Given the description of an element on the screen output the (x, y) to click on. 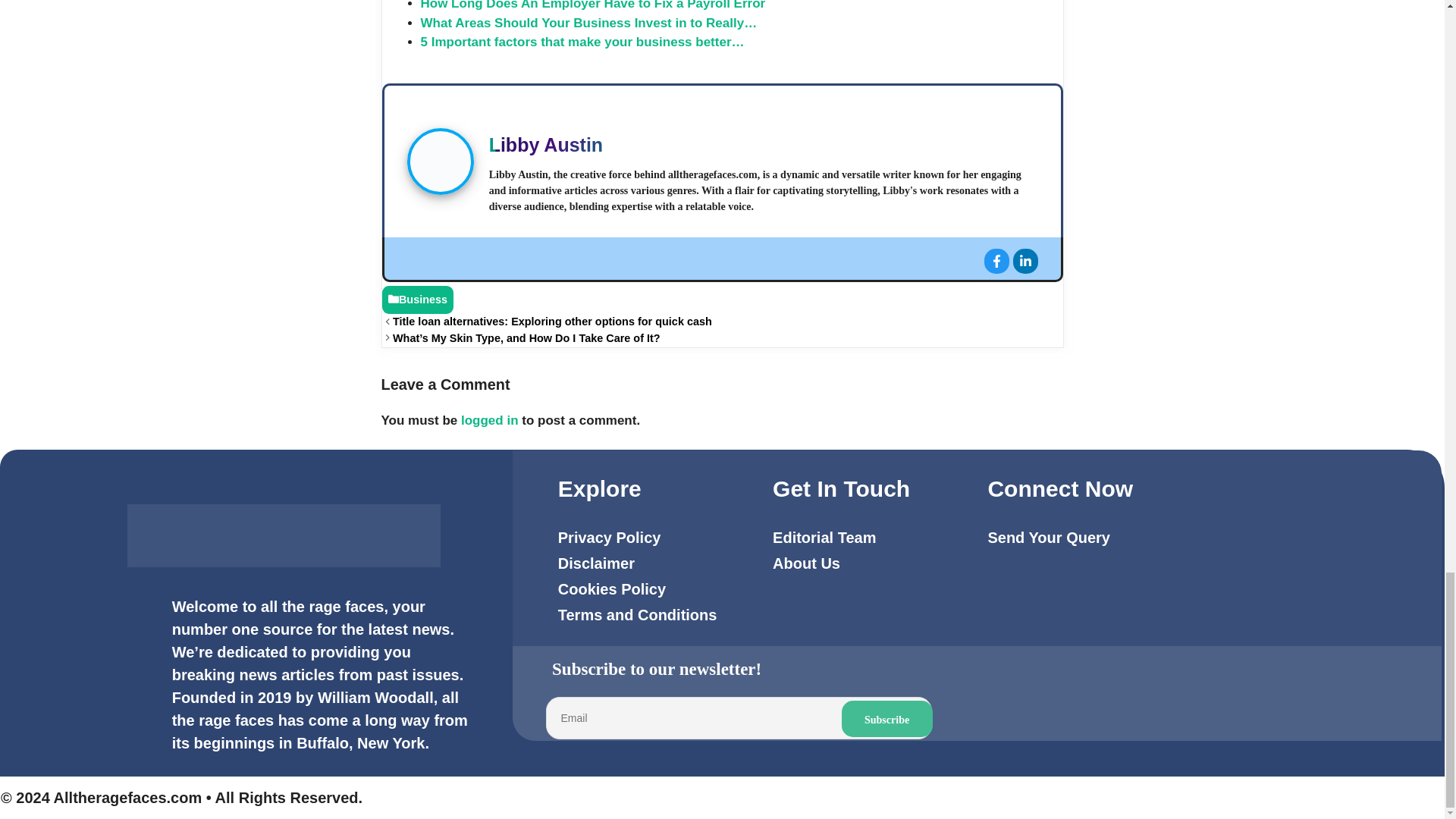
How Long Does An Employer Have to Fix a Payroll Error (592, 5)
Subscribe (887, 719)
Libby Austin (545, 144)
